Given the description of an element on the screen output the (x, y) to click on. 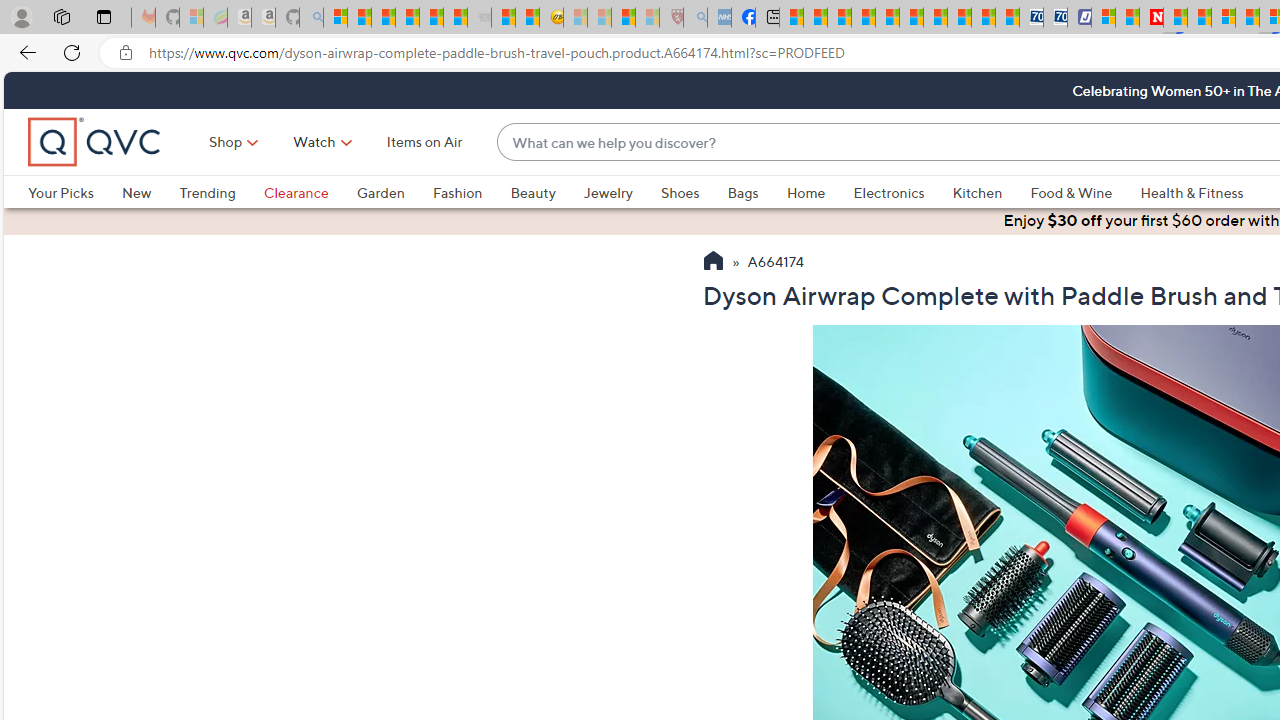
Shoes (680, 192)
Electronics (902, 192)
Health & Fitness (1197, 192)
Beauty (546, 192)
New (136, 192)
Garden (393, 192)
Jewelry (621, 192)
